Given the description of an element on the screen output the (x, y) to click on. 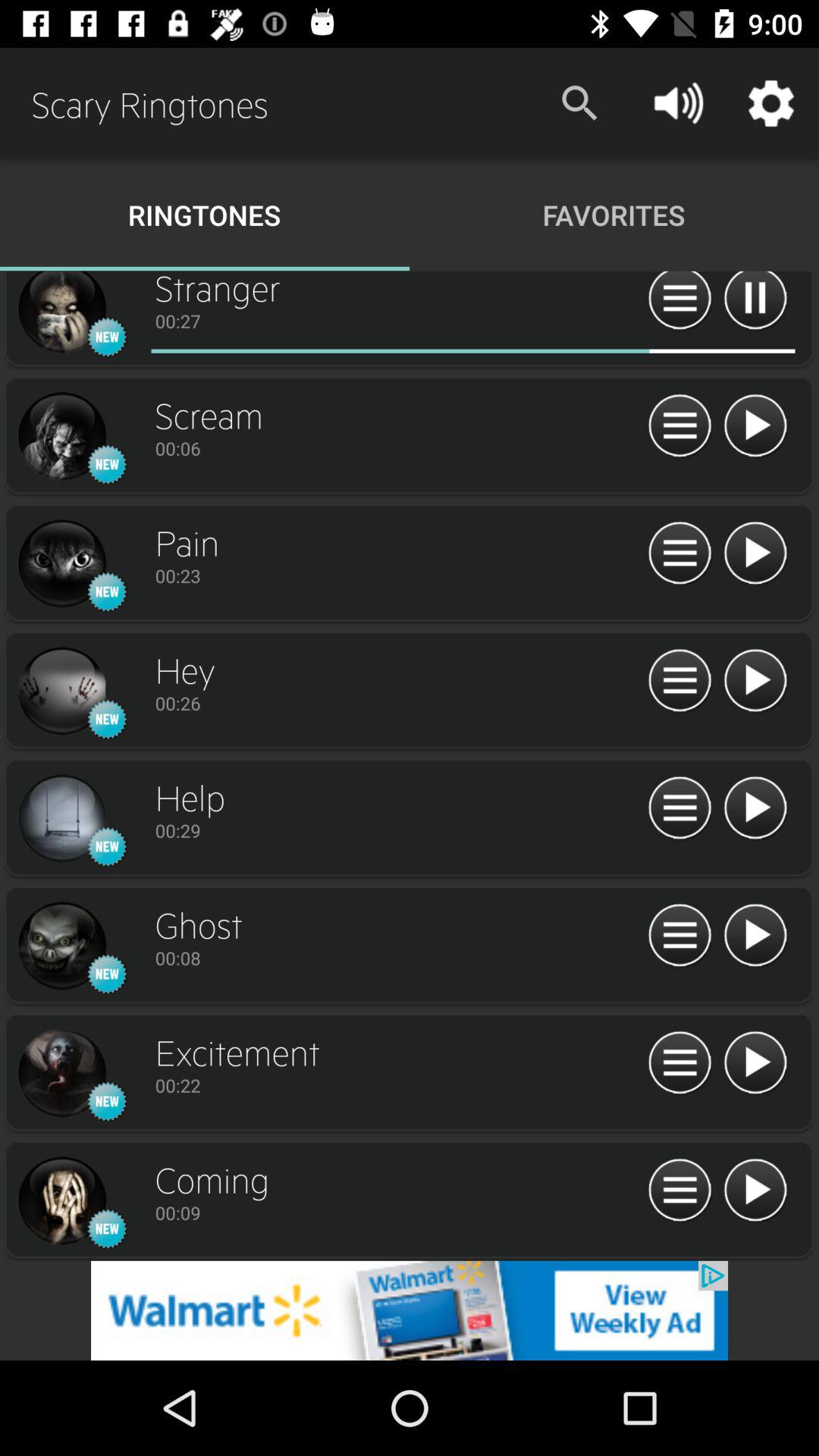
button image (61, 691)
